Given the description of an element on the screen output the (x, y) to click on. 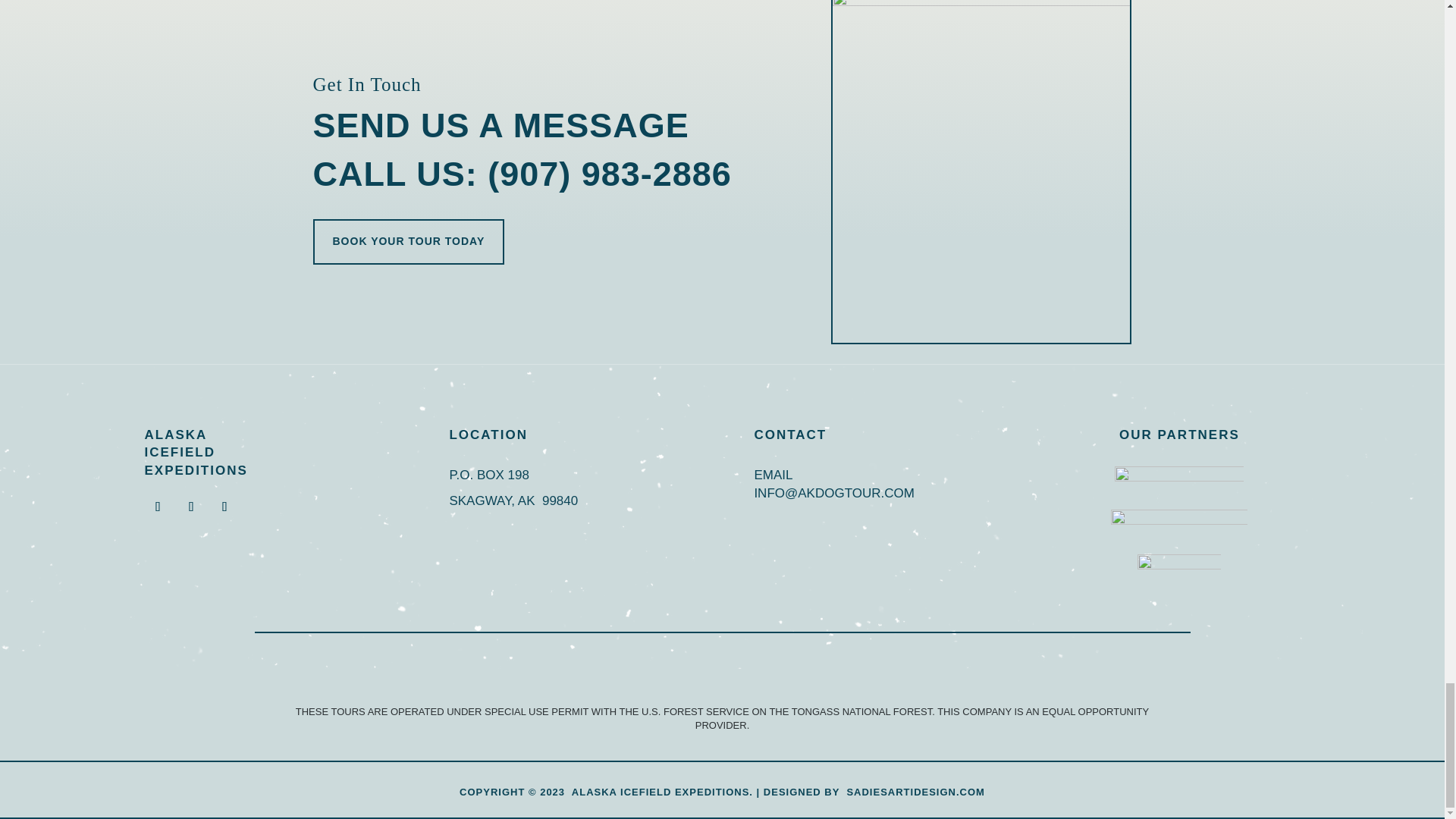
BOOK YOUR TOUR TODAY (408, 241)
Coastal Helicopters (1178, 523)
Follow on Instagram (191, 506)
Follow on Youtube (224, 506)
temscoLogo (1179, 476)
Follow on Facebook (157, 506)
AIE Website 8 copy (980, 171)
